Given the description of an element on the screen output the (x, y) to click on. 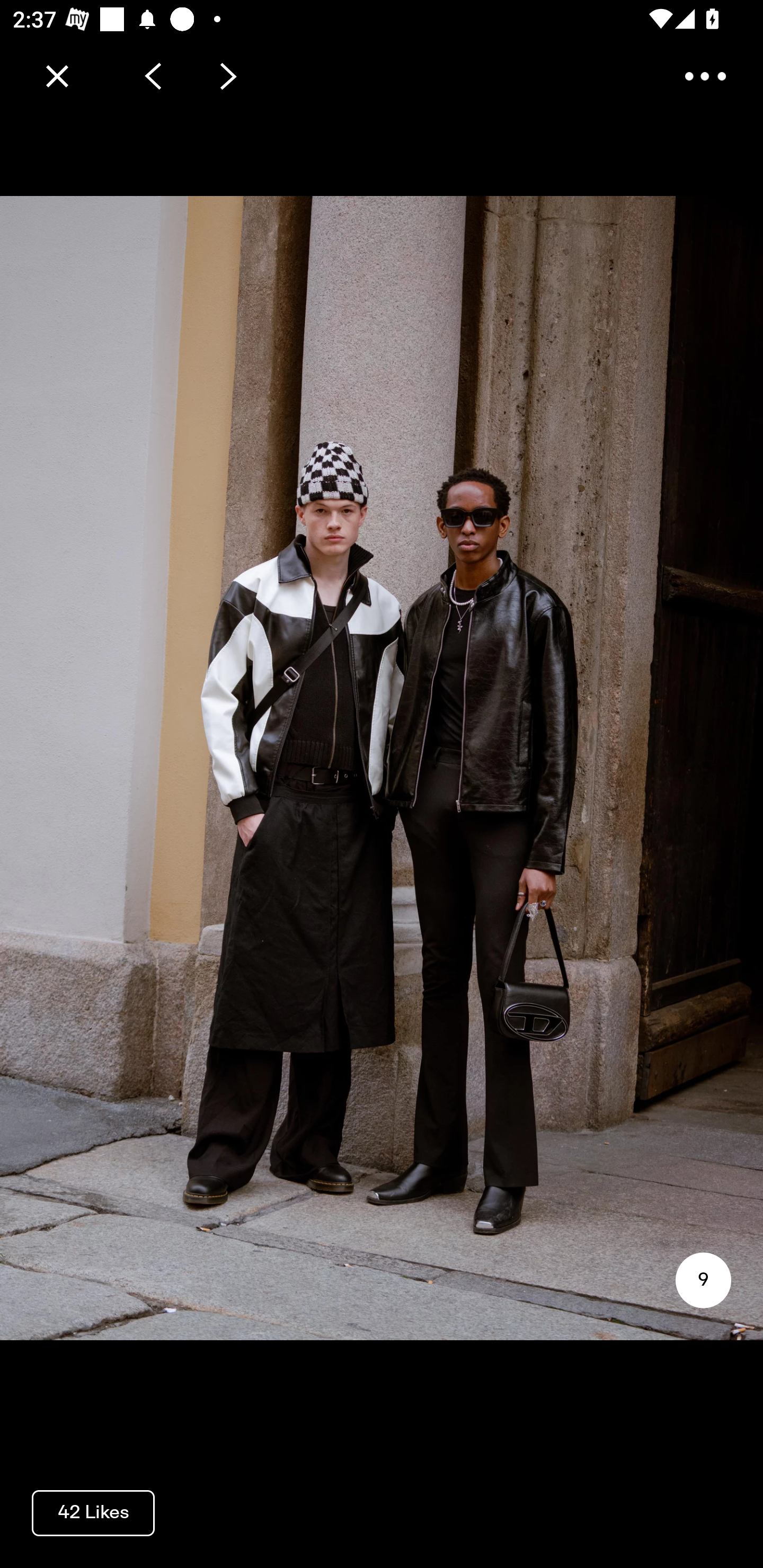
9 (702, 1279)
42 Likes (93, 1512)
